Given the description of an element on the screen output the (x, y) to click on. 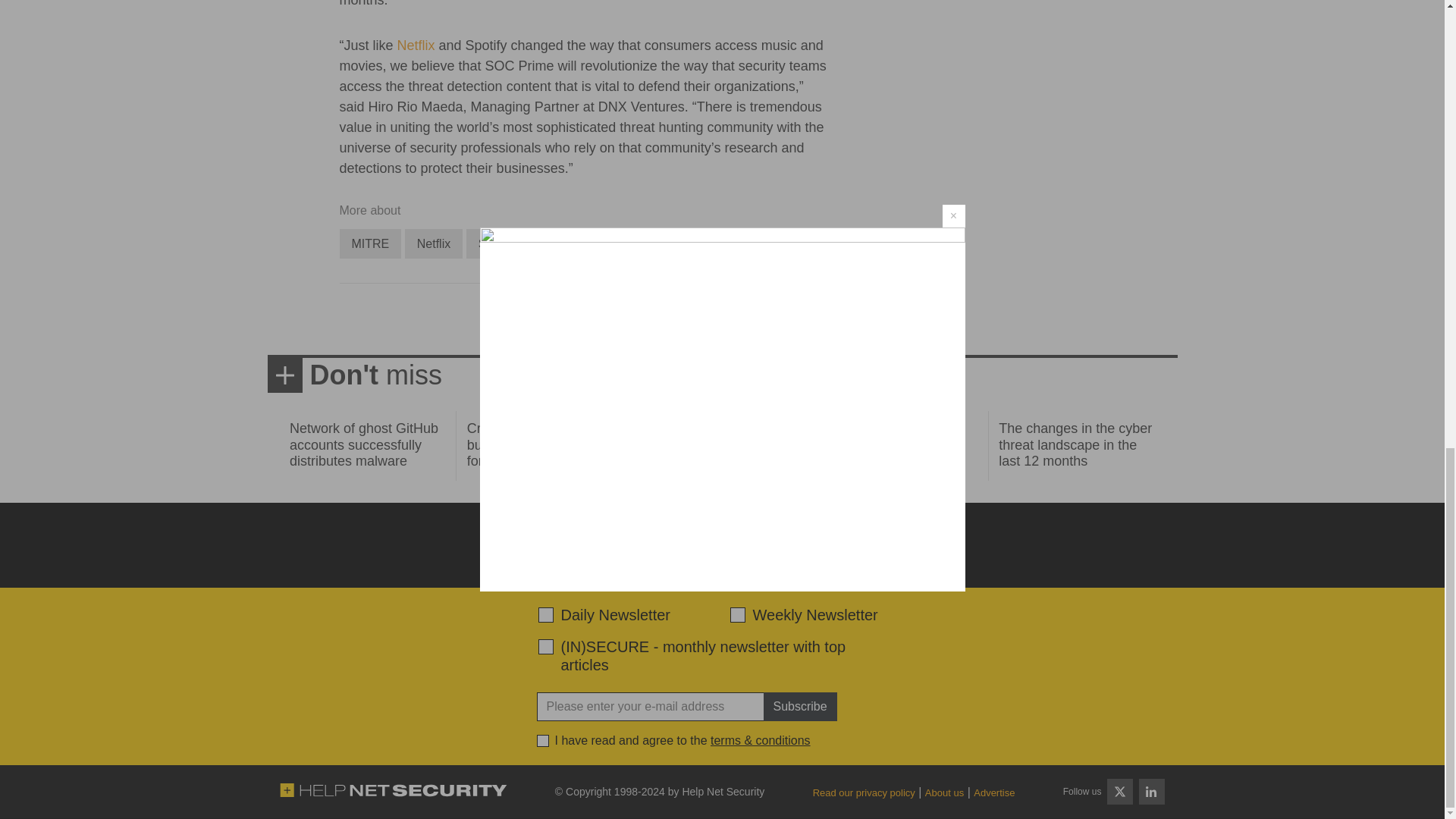
Netflix (416, 45)
520ac2f639 (545, 614)
SOC Prime (508, 243)
d2d471aafa (736, 614)
MITRE (370, 243)
1 (542, 740)
Netflix (433, 243)
SOC Prime (508, 243)
MITRE (370, 243)
Netflix (433, 243)
28abe5d9ef (545, 646)
